Given the description of an element on the screen output the (x, y) to click on. 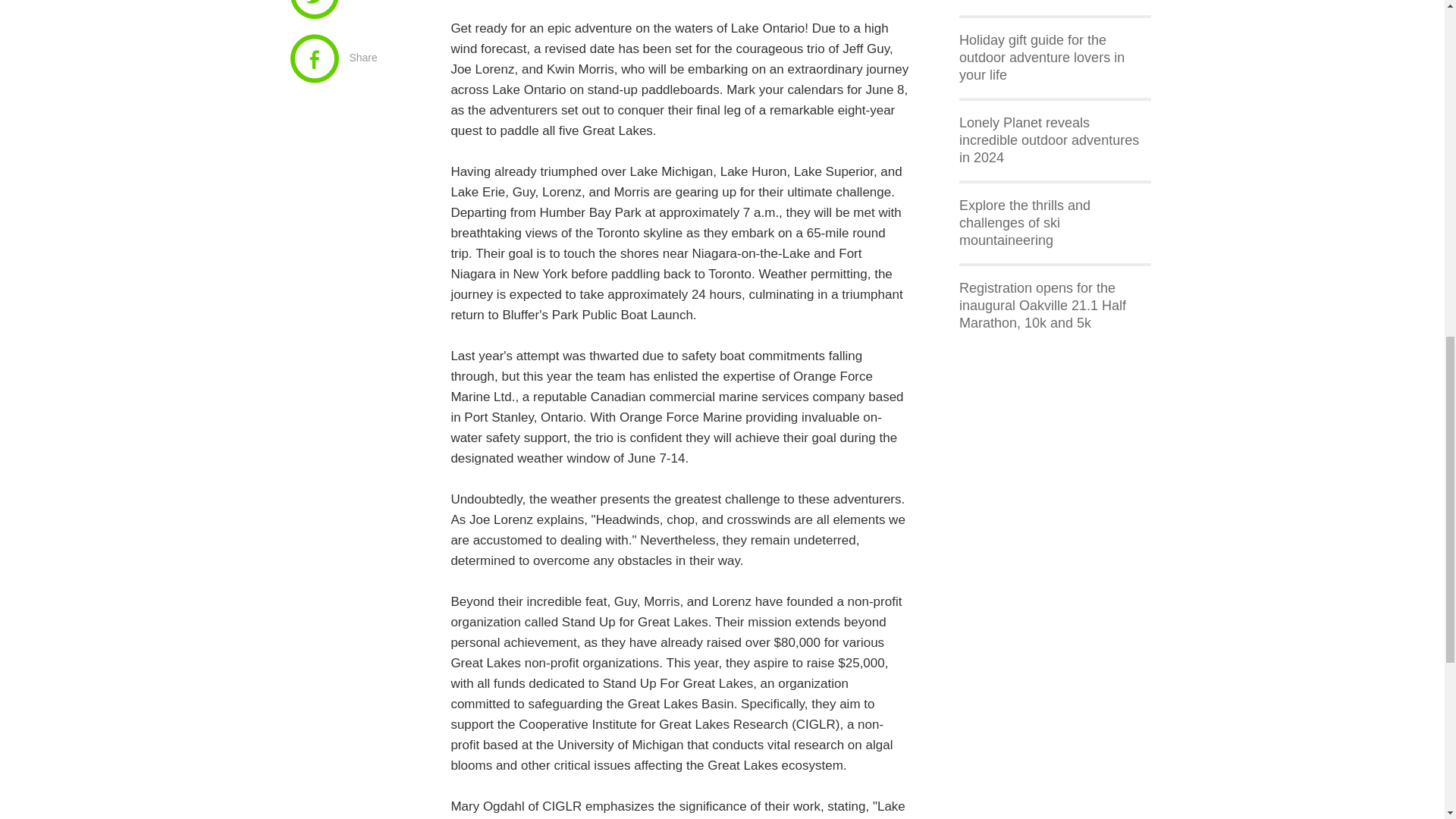
Lonely Planet reveals incredible outdoor adventures in 2024 (1048, 140)
Tweet (358, 13)
Share (358, 58)
Explore the thrills and challenges of ski mountaineering (1024, 223)
